Given the description of an element on the screen output the (x, y) to click on. 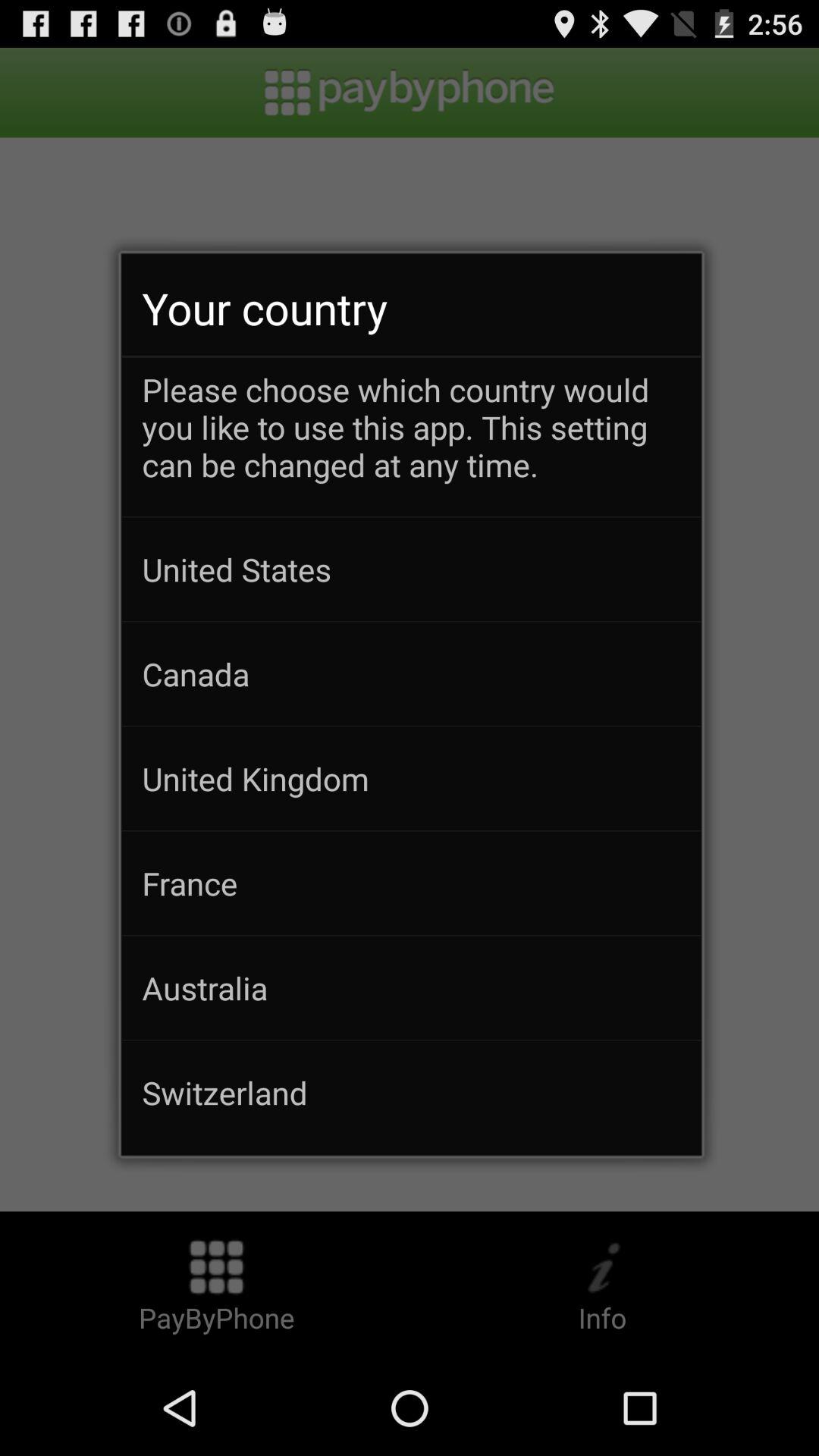
click united states app (411, 569)
